Given the description of an element on the screen output the (x, y) to click on. 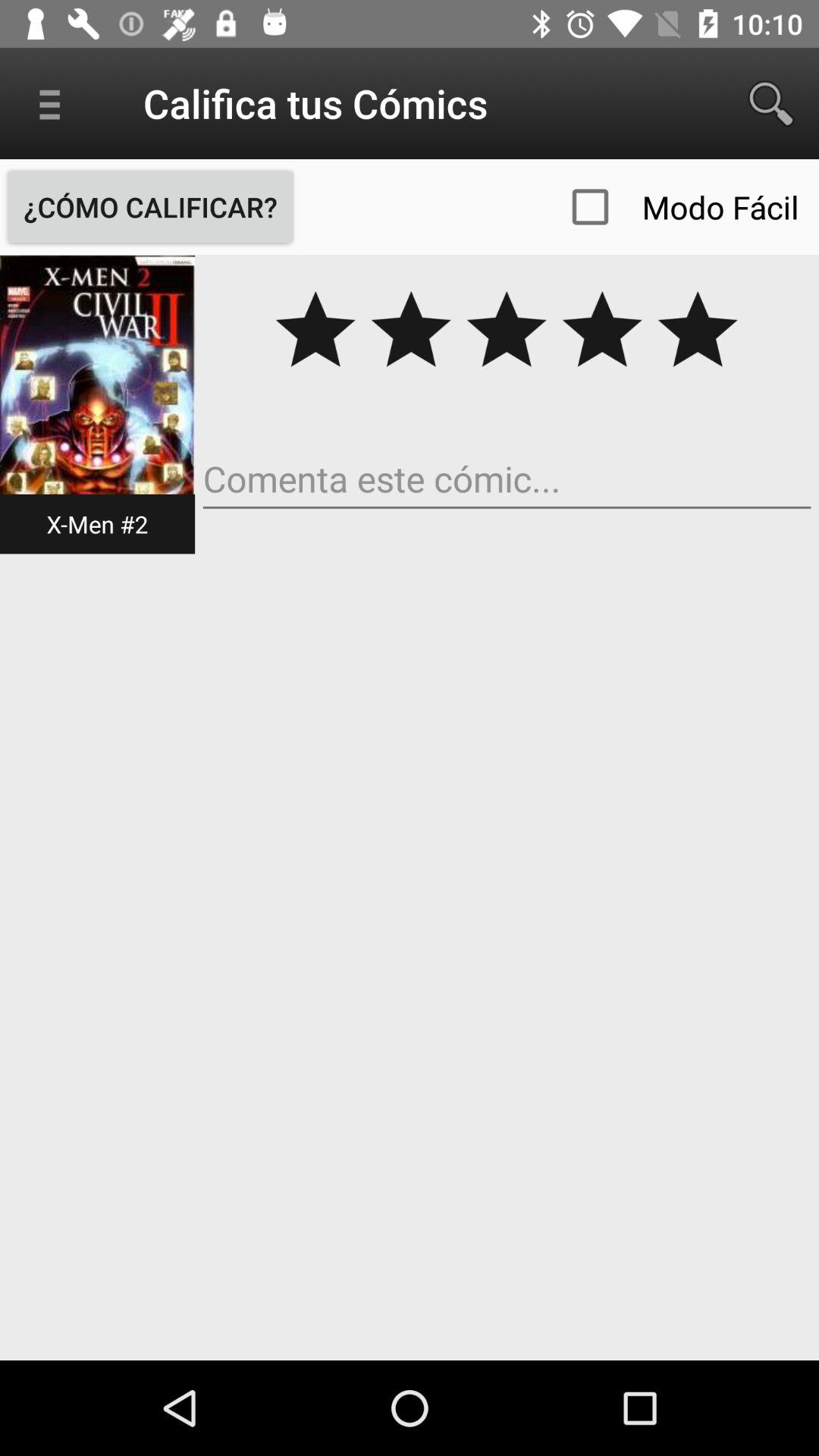
comment box (507, 479)
